Given the description of an element on the screen output the (x, y) to click on. 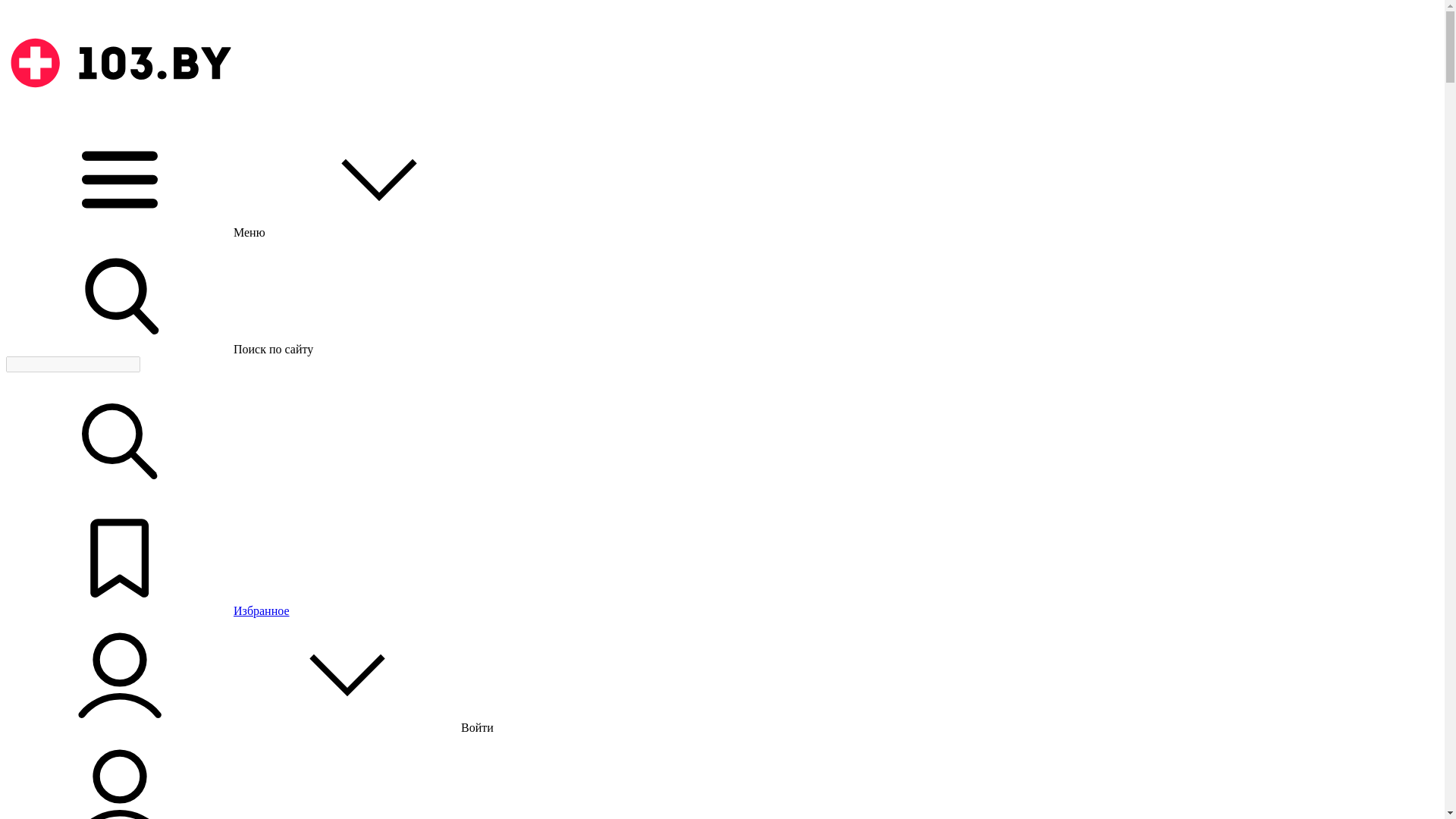
logo Element type: hover (119, 115)
logo Element type: hover (119, 62)
